Given the description of an element on the screen output the (x, y) to click on. 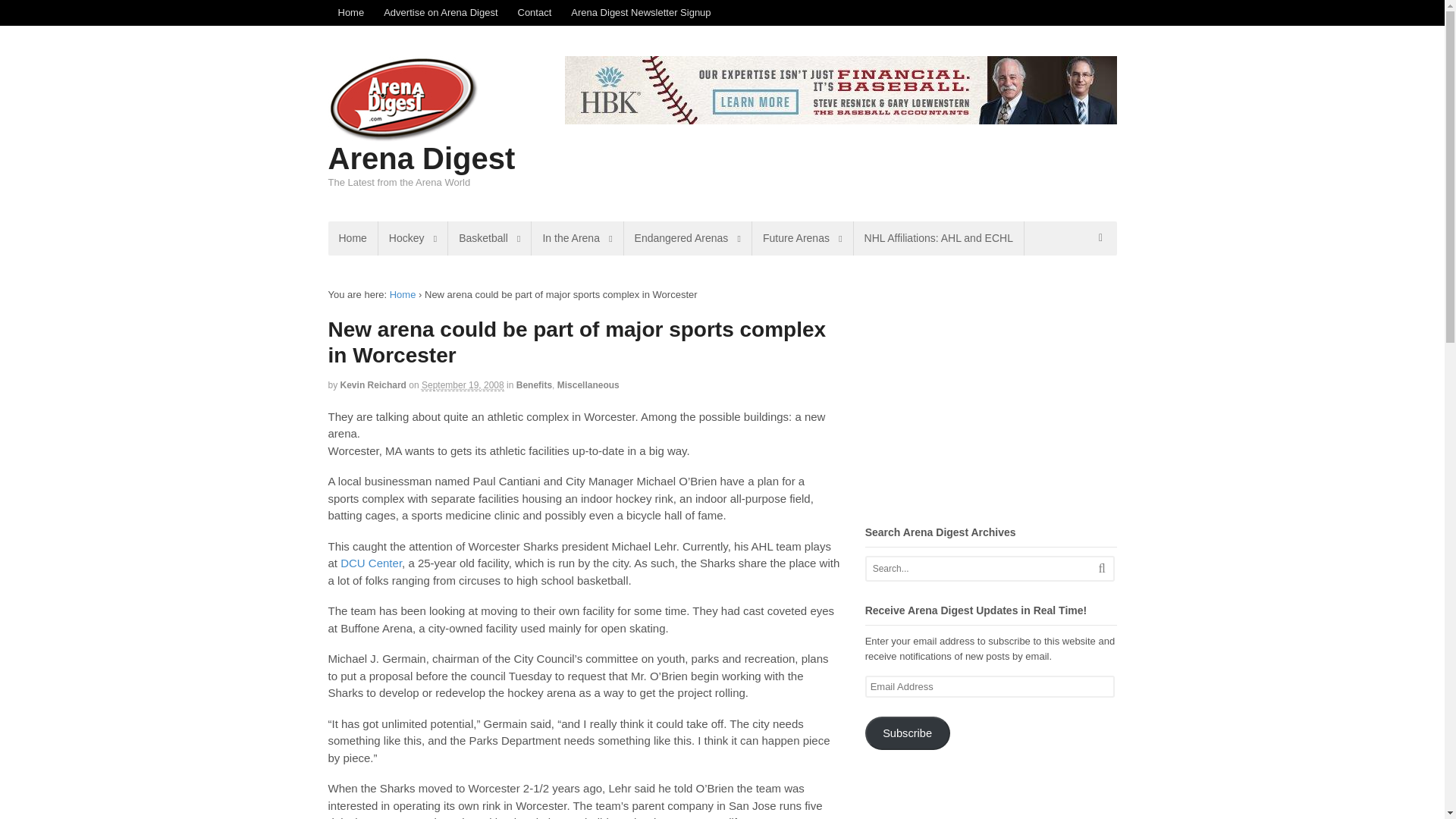
Posts by Kevin Reichard (373, 385)
Miscellaneous (588, 385)
Search... (976, 568)
View all items in Benefits (533, 385)
Arena Digest (403, 294)
Contact (535, 12)
Benefits (533, 385)
Kevin Reichard (373, 385)
Home (352, 238)
Home (403, 294)
In the Arena (577, 238)
DCU Center (370, 562)
Arena Digest (421, 158)
The Latest from the Arena World (403, 134)
Arena Digest Newsletter Signup (640, 12)
